Given the description of an element on the screen output the (x, y) to click on. 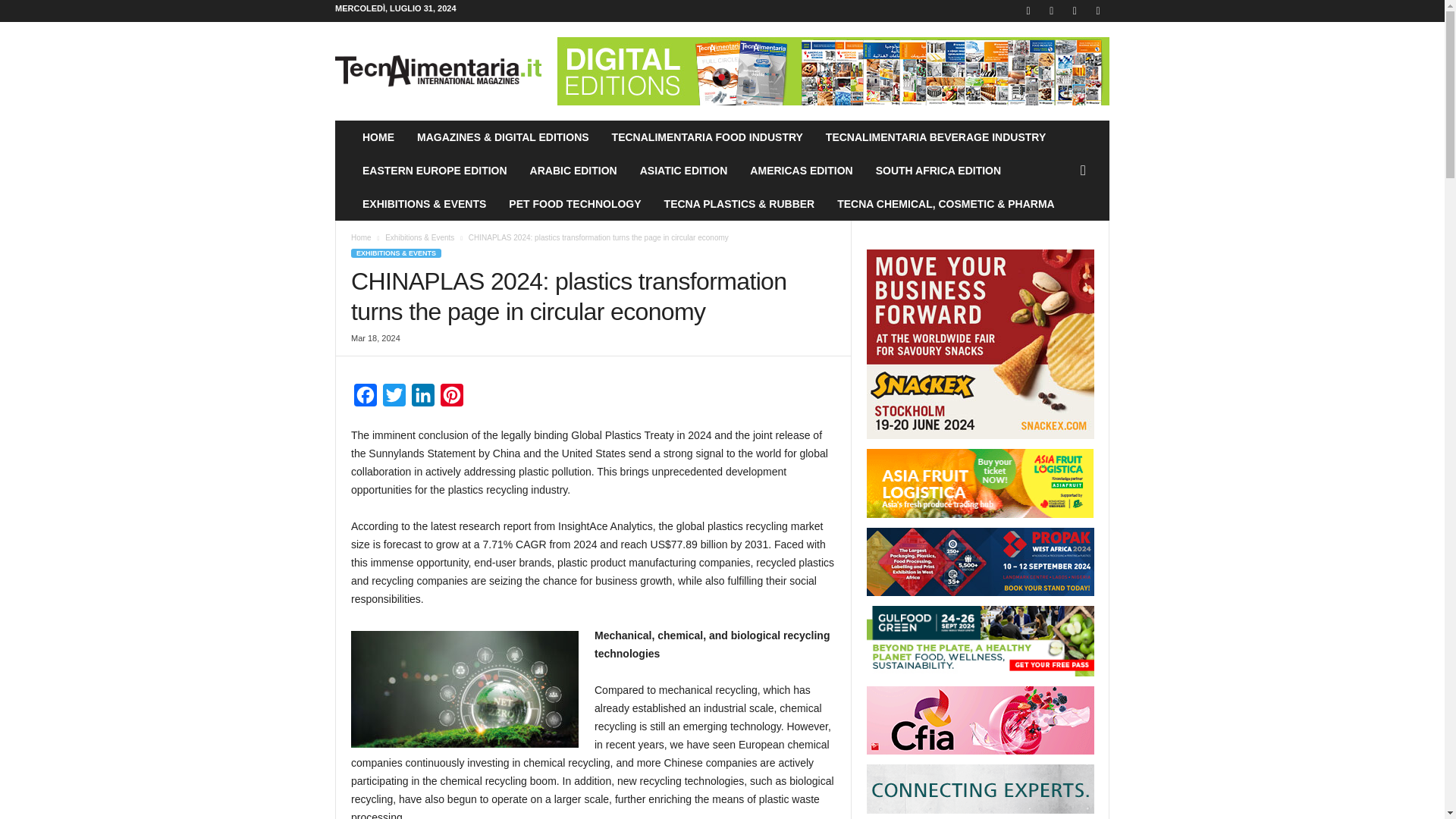
SOUTH AFRICA EDITION (937, 170)
TECNALIMENTARIA BEVERAGE INDUSTRY (935, 136)
ASIATIC EDITION (683, 170)
LinkedIn (423, 399)
TECNALIMENTARIA FOOD INDUSTRY (706, 136)
TecnAlimentaria (437, 70)
ARABIC EDITION (573, 170)
Facebook (365, 399)
Twitter (394, 399)
Pinterest (451, 399)
